Given the description of an element on the screen output the (x, y) to click on. 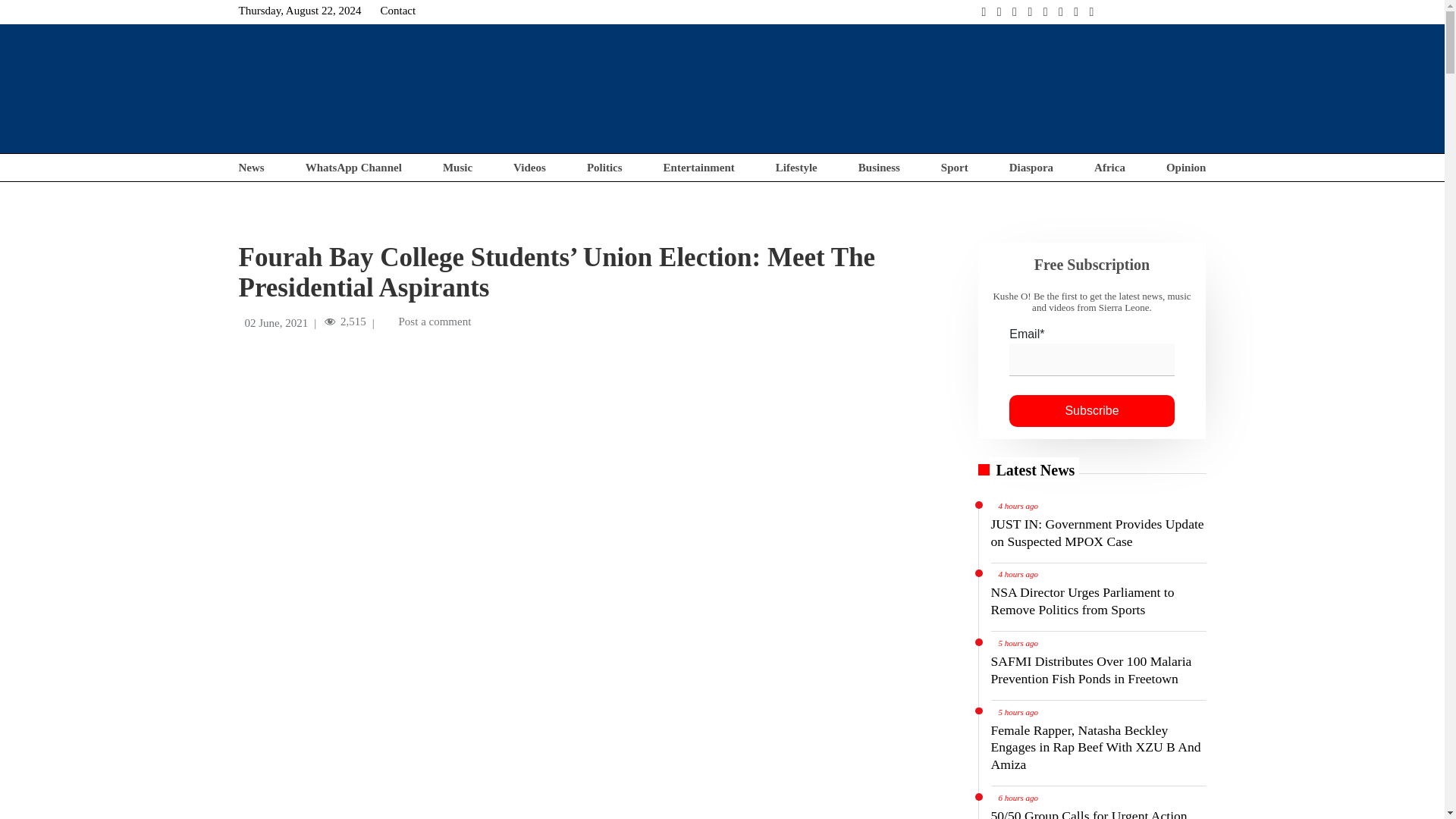
Lifestyle (796, 167)
Subscribe (1091, 410)
Music (456, 167)
Entertainment (699, 167)
WhatsApp Channel (353, 167)
Advertisement (929, 87)
Videos (529, 167)
Business (879, 167)
Thursday, August 22, 2024 (299, 10)
Politics (604, 167)
